Given the description of an element on the screen output the (x, y) to click on. 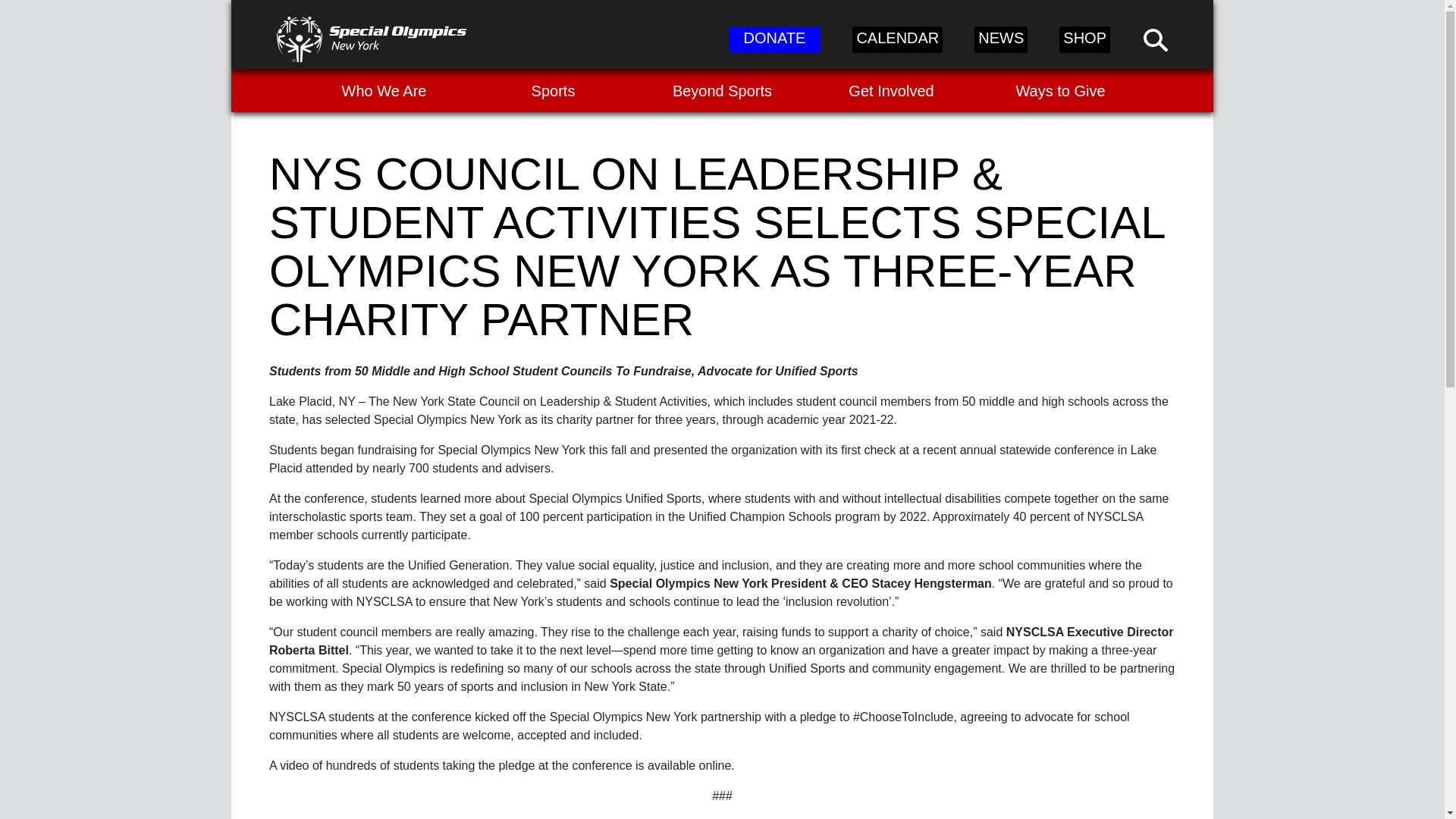
Beyond Sports (721, 90)
NEWS (1000, 39)
Ways to Give (1059, 90)
CALENDAR (896, 39)
Sports (553, 90)
Who We Are (384, 90)
DONATE (775, 39)
SHOP (1084, 39)
Get Involved (890, 90)
